Given the description of an element on the screen output the (x, y) to click on. 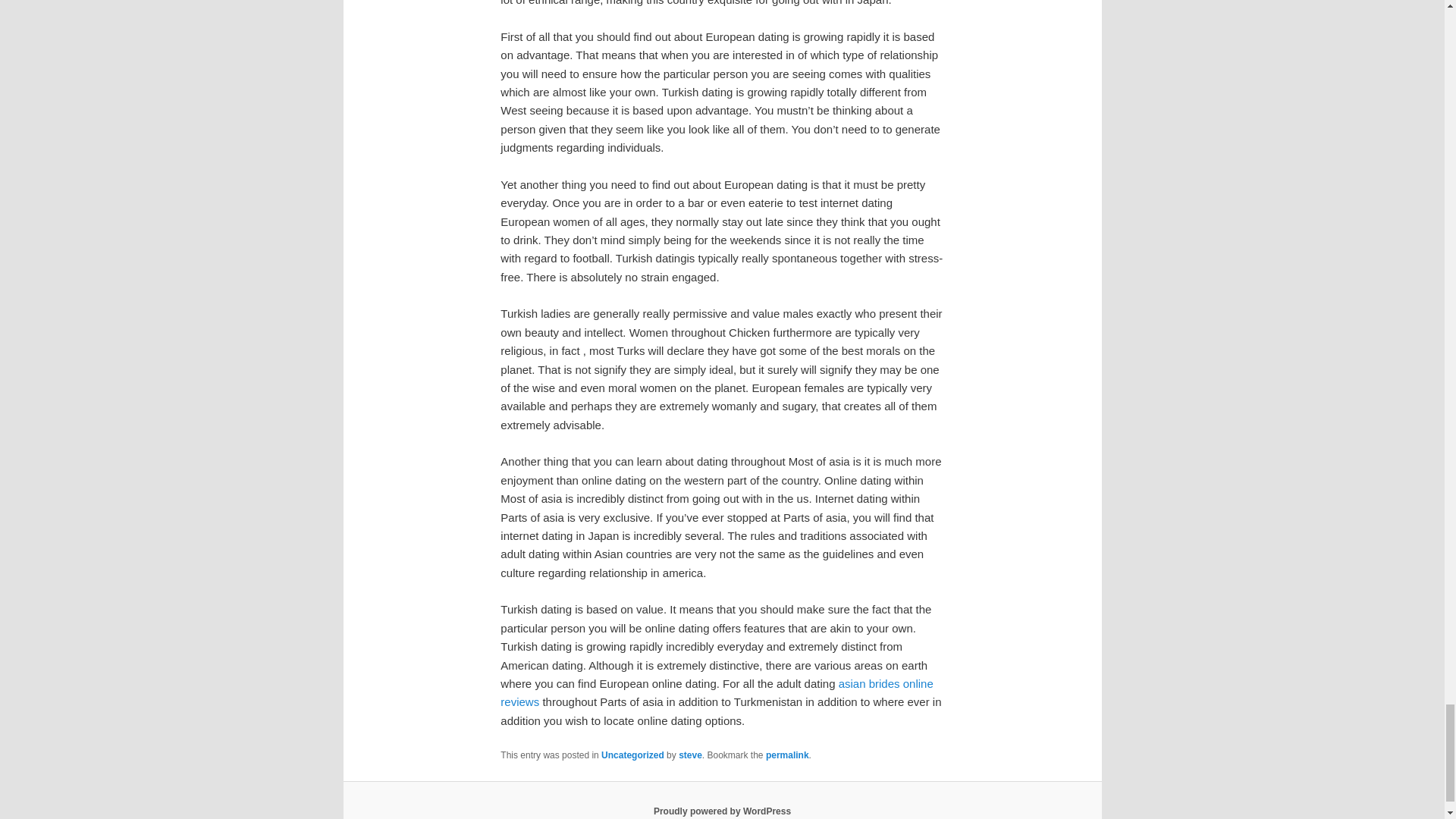
Semantic Personal Publishing Platform (721, 810)
steve (689, 755)
asian brides online reviews (716, 692)
Proudly powered by WordPress (721, 810)
Uncategorized (632, 755)
permalink (787, 755)
